Given the description of an element on the screen output the (x, y) to click on. 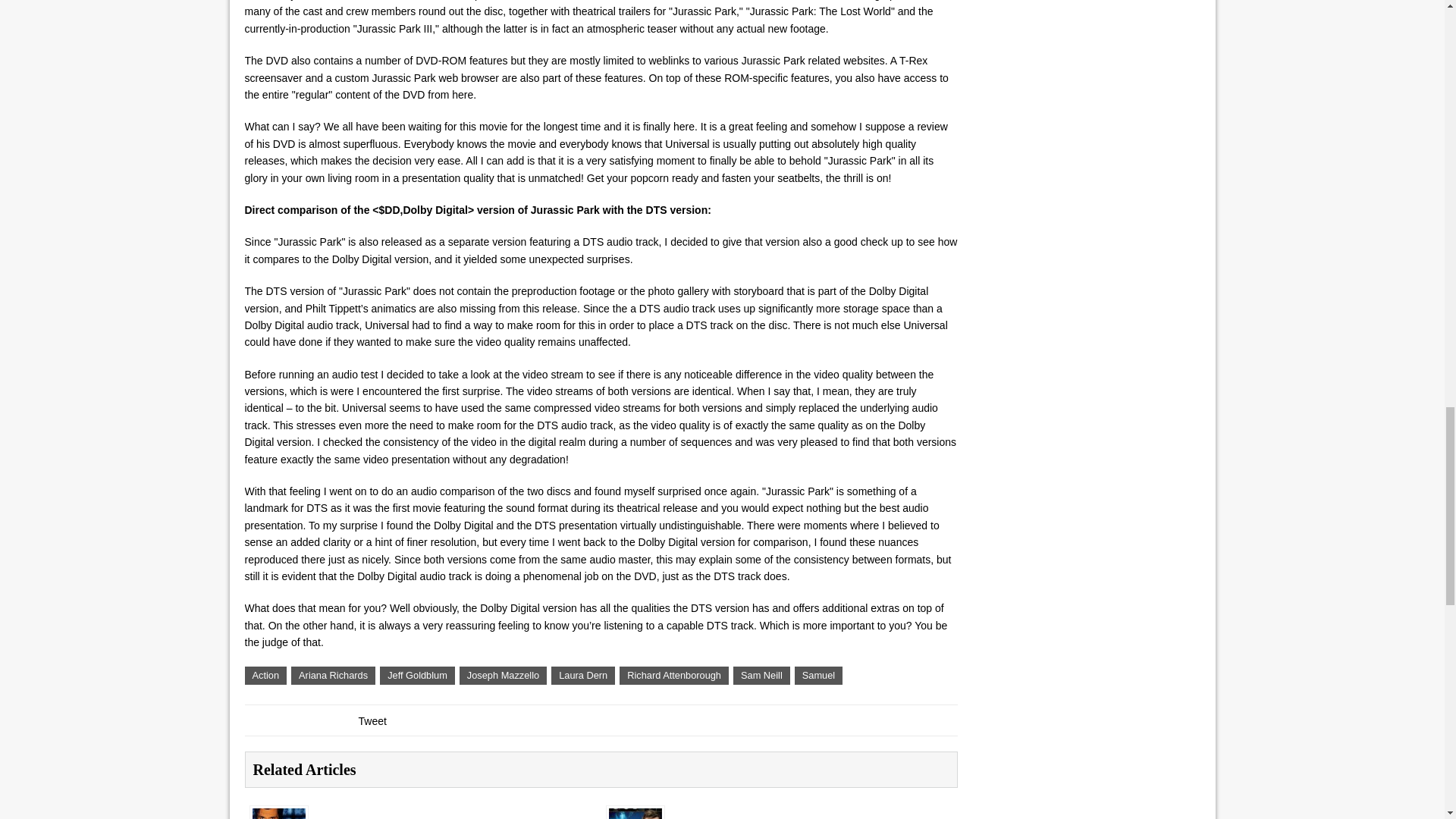
Ariana Richards (333, 675)
Laura Dern (582, 675)
Samuel (818, 675)
Sam Neill (761, 675)
Tweet (371, 720)
Richard Attenborough (674, 675)
Joseph Mazzello (503, 675)
Action (265, 675)
Jeff Goldblum (417, 675)
